Given the description of an element on the screen output the (x, y) to click on. 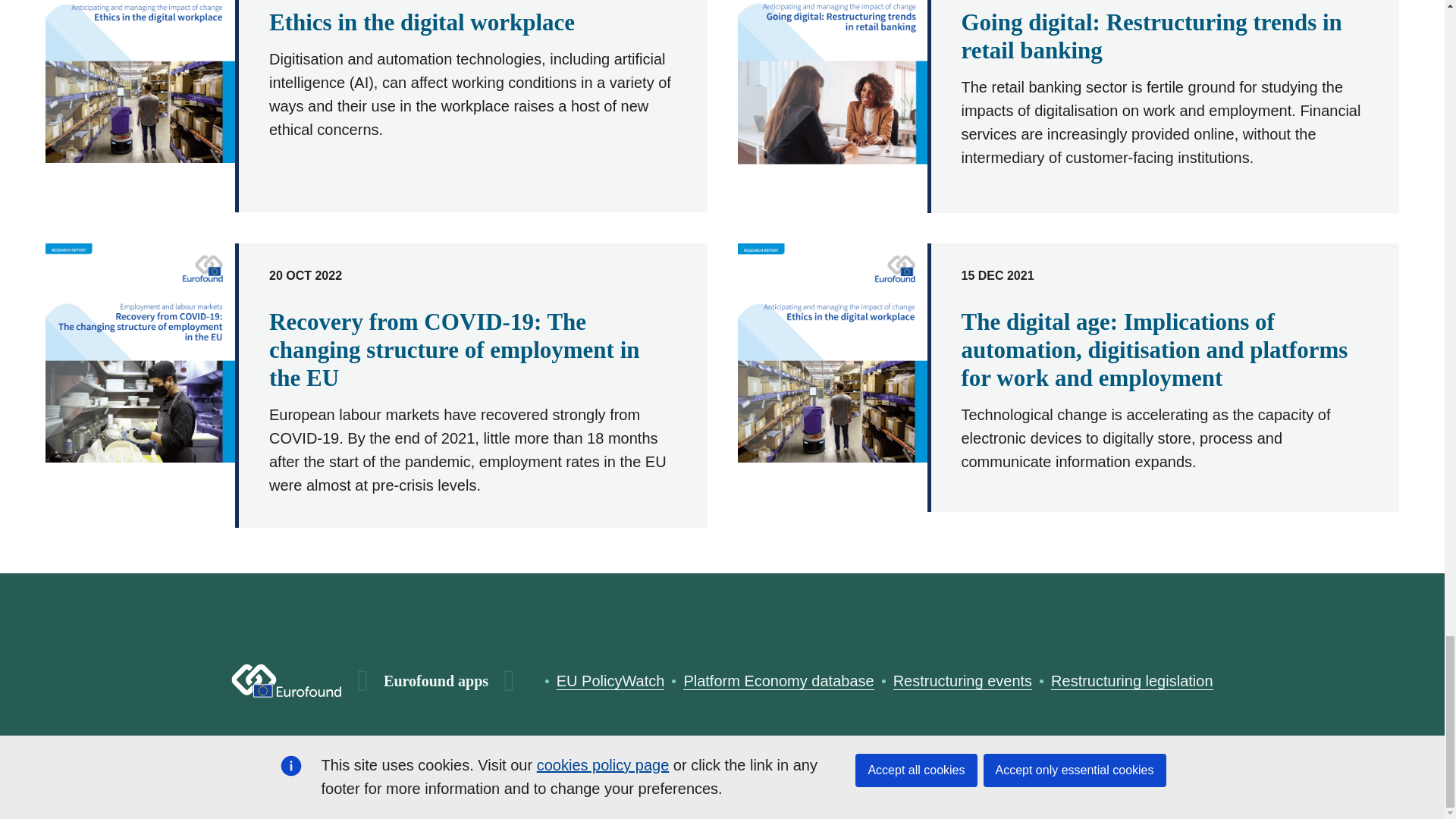
Going digital: Restructuring trends in retail banking (1151, 36)
Eurofound (286, 680)
Platform Economy database (777, 681)
Ethics in the digital workplace (422, 22)
Restructuring events (962, 681)
Eurofound apps (435, 680)
Restructuring legislation (1131, 681)
EU PolicyWatch (610, 681)
